Given the description of an element on the screen output the (x, y) to click on. 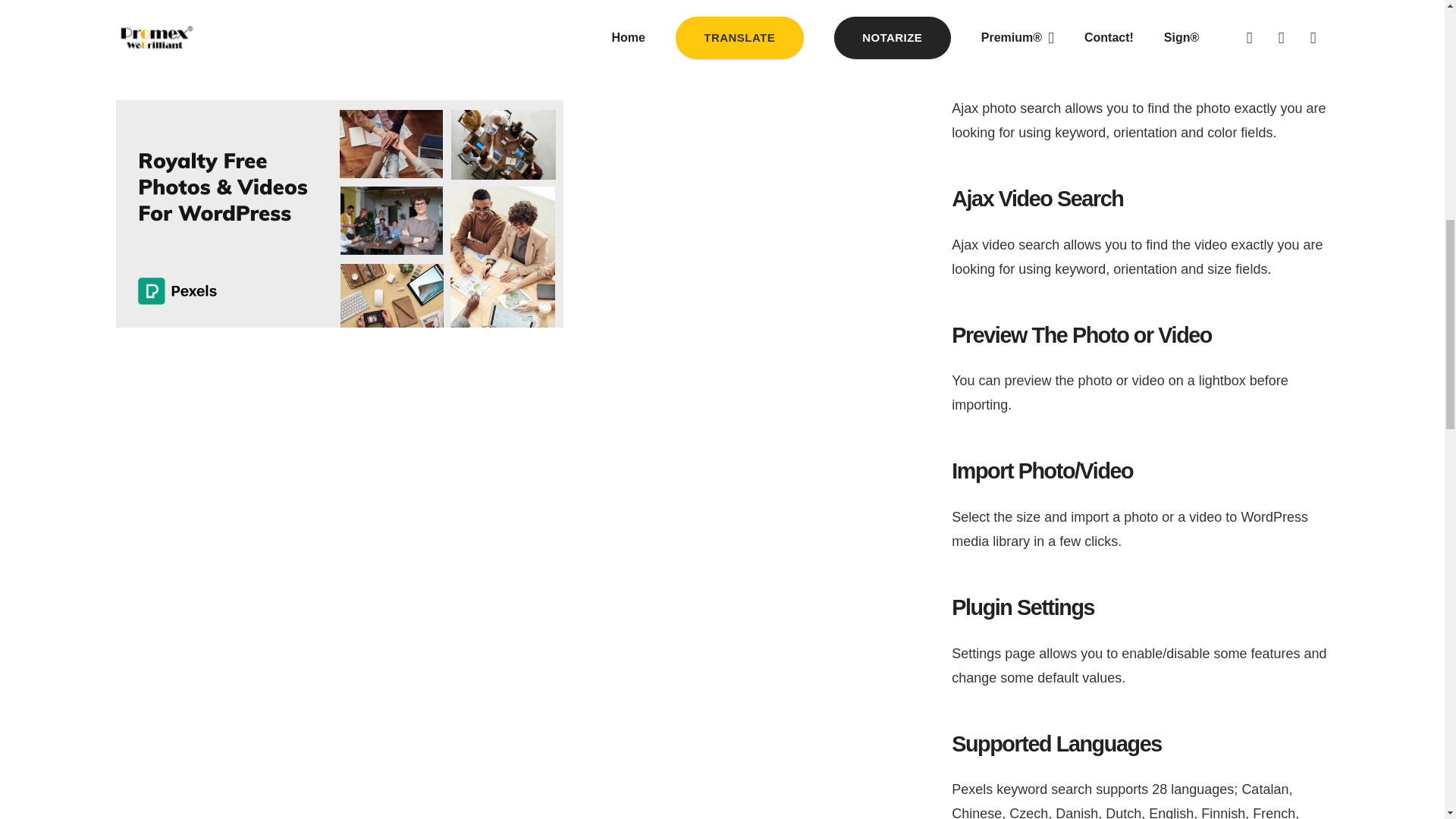
Back to top (1413, 26)
